Given the description of an element on the screen output the (x, y) to click on. 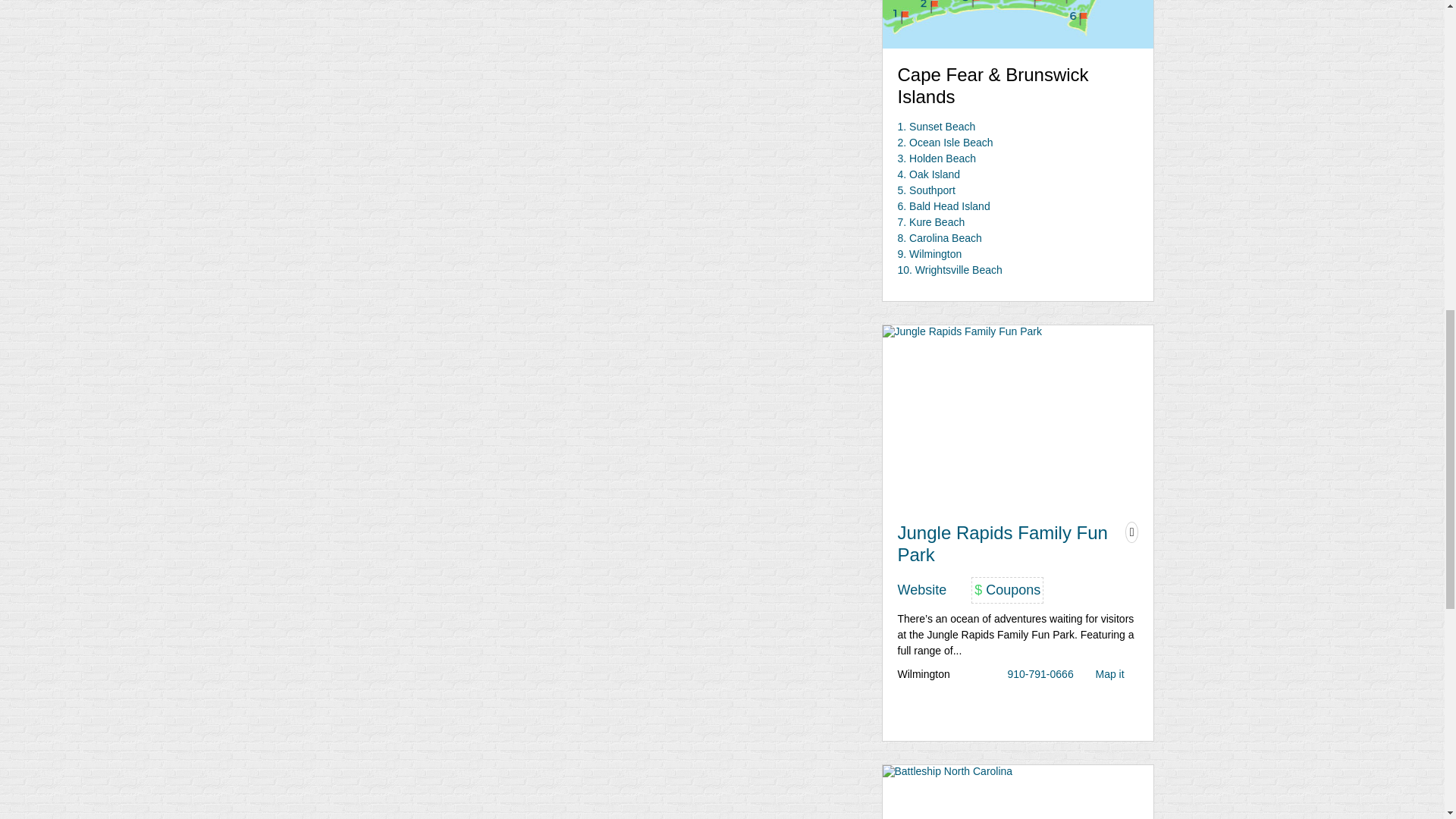
8. Carolina Beach (939, 237)
1. Sunset Beach (936, 126)
7. Kure Beach (931, 222)
6. Bald Head Island (944, 205)
2. Ocean Isle Beach (945, 142)
9. Wilmington (930, 254)
10. Wrightsville Beach (950, 269)
5. Southport (926, 190)
3. Holden Beach (937, 158)
FareHarbor (1342, 64)
4. Oak Island (929, 174)
